Given the description of an element on the screen output the (x, y) to click on. 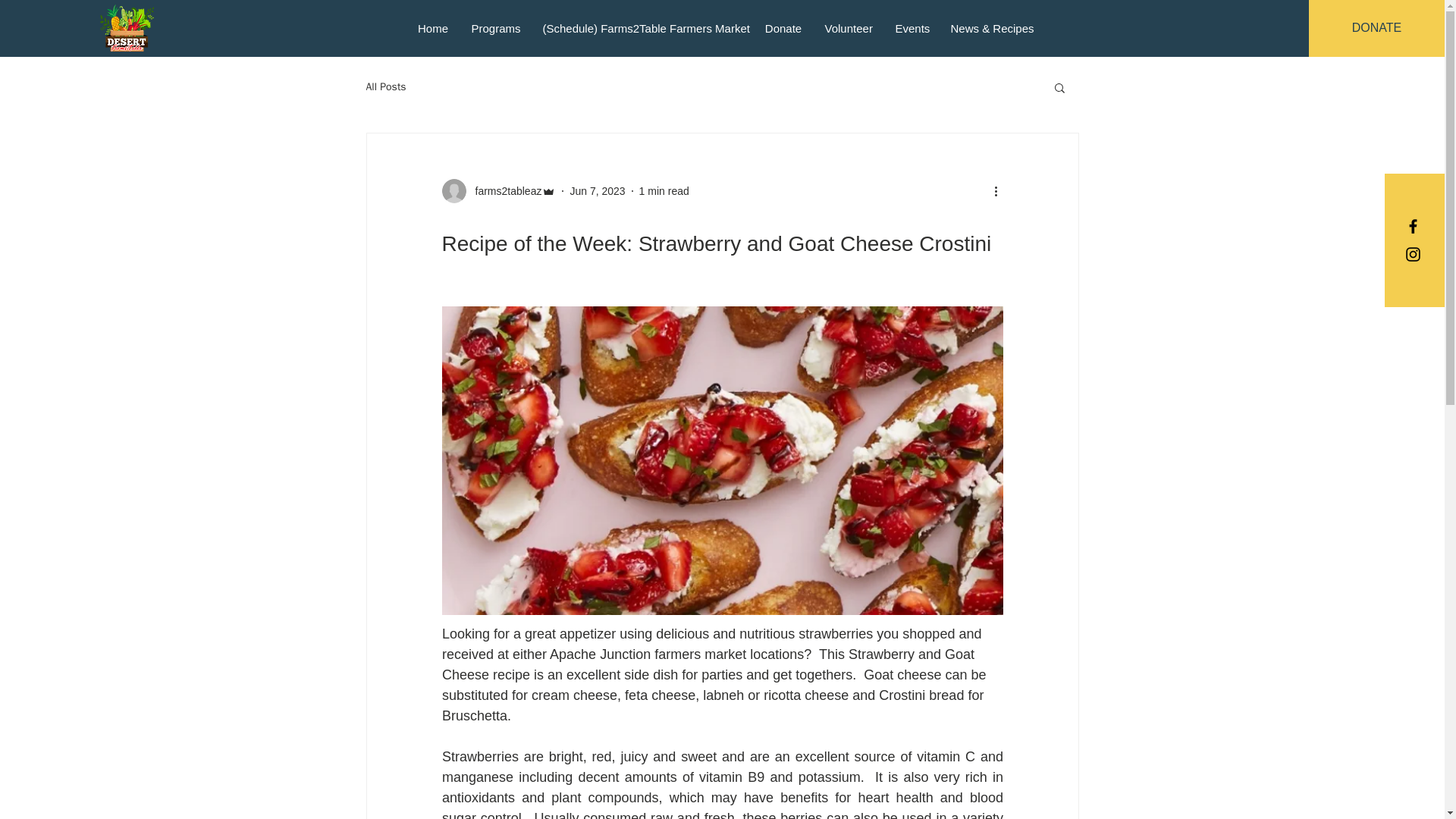
df2t.png (127, 27)
1 min read (663, 191)
farms2tableaz (503, 191)
Home (433, 28)
All Posts (385, 87)
farms2tableaz (498, 191)
Volunteer (847, 28)
Jun 7, 2023 (596, 191)
Events (911, 28)
